Given the description of an element on the screen output the (x, y) to click on. 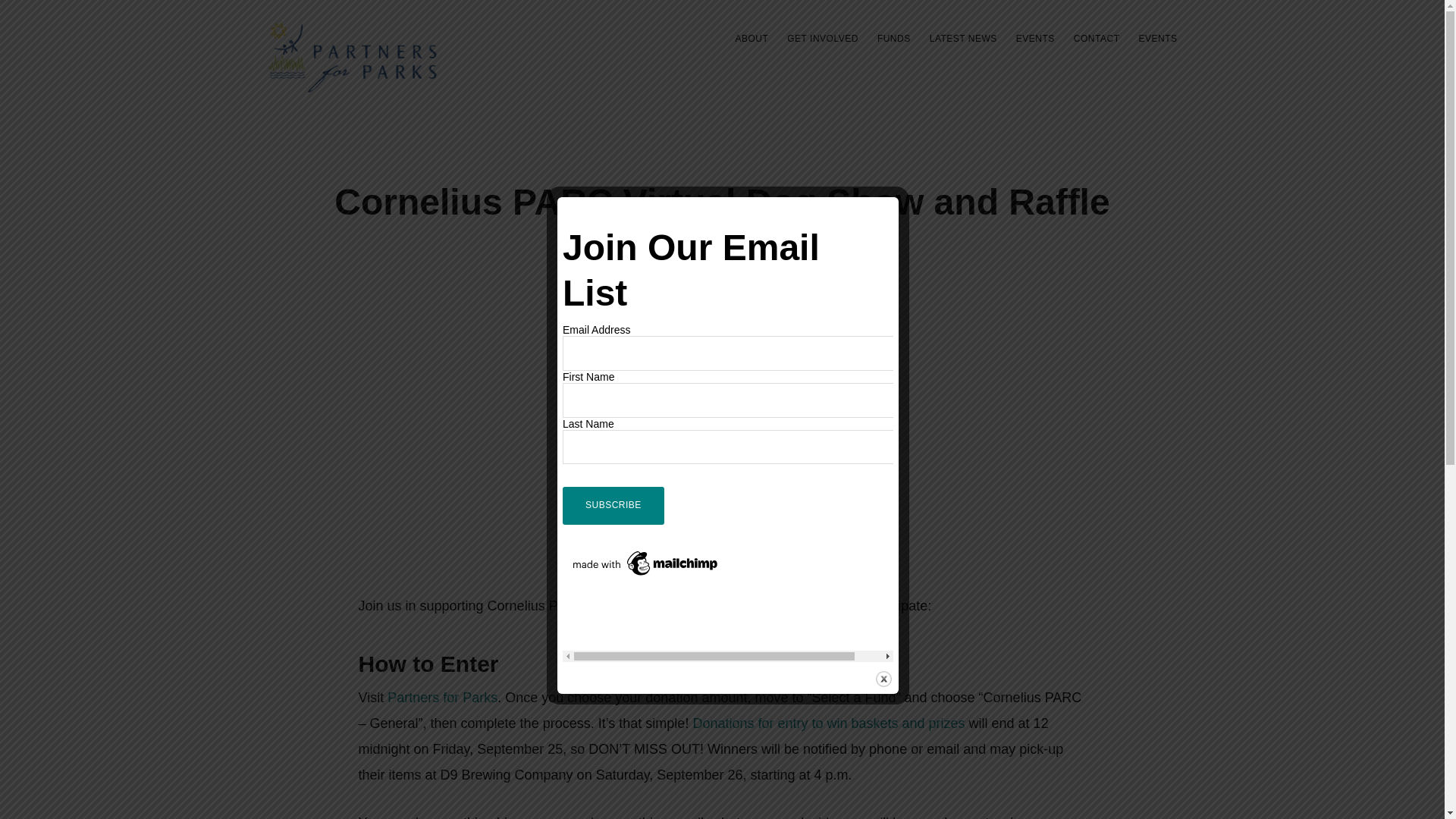
CONTACT (1095, 37)
Partners for Parks (442, 697)
GET INVOLVED (822, 37)
Subscribe (612, 505)
Donations for entry to win baskets and prizes (828, 723)
Mailchimp - email marketing made easy and fun (645, 553)
ABOUT (751, 37)
LATEST NEWS (962, 37)
EVENTS (1158, 37)
